Given the description of an element on the screen output the (x, y) to click on. 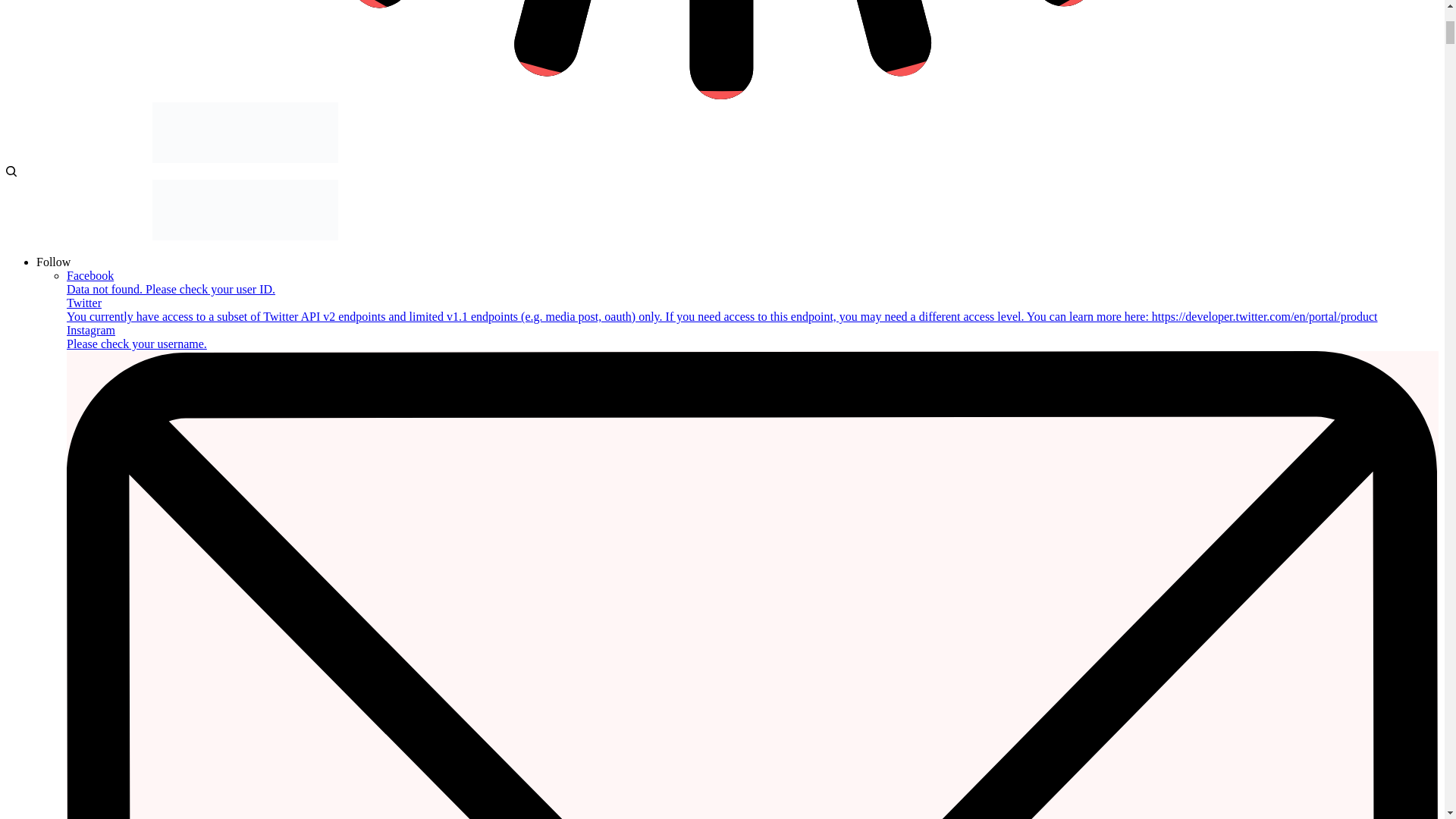
Follow (52, 261)
Your Guide to the Big City (244, 158)
Your Guide to the Big City (244, 236)
